Given the description of an element on the screen output the (x, y) to click on. 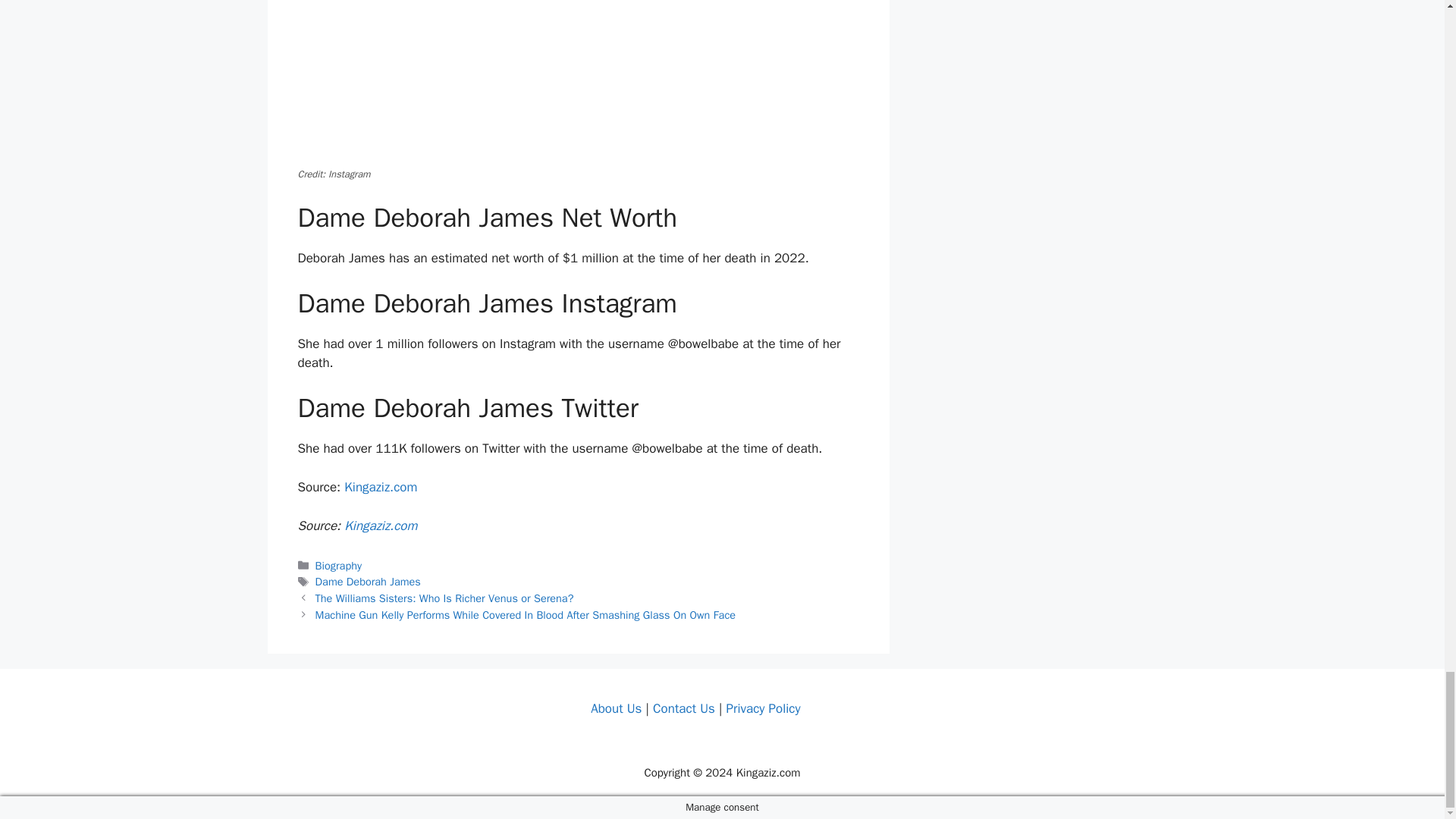
About Us (616, 708)
The Williams Sisters: Who Is Richer Venus or Serena? (444, 598)
Contact Us (683, 708)
Biography (338, 565)
Kingaziz.com (379, 487)
Privacy Policy (762, 708)
Dame Deborah James (367, 581)
Kingaziz.com (379, 525)
